Given the description of an element on the screen output the (x, y) to click on. 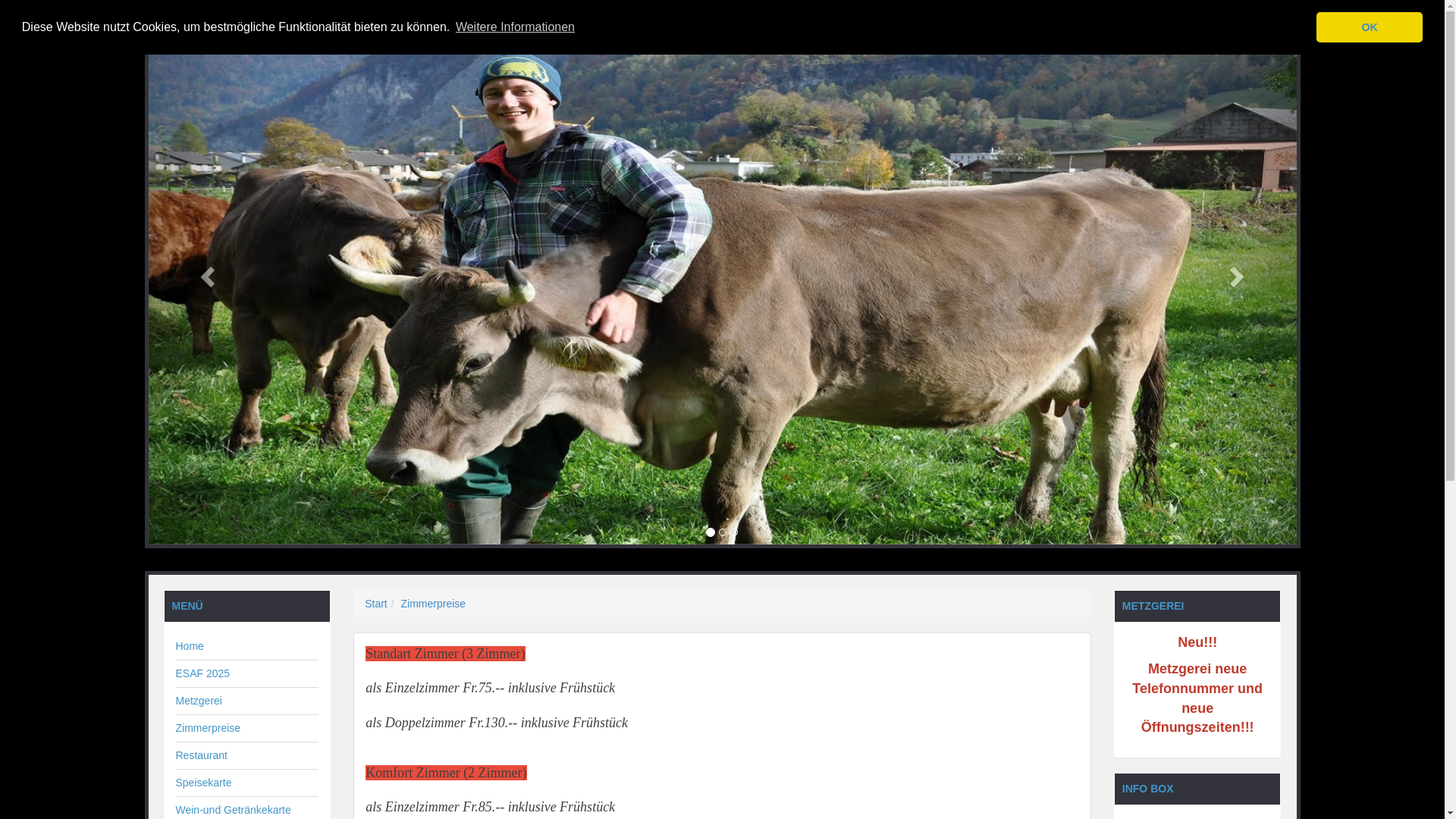
Next Element type: text (1238, 272)
Speisekarte Element type: text (203, 782)
OK Element type: text (1369, 27)
Restaurant Element type: text (201, 755)
Weitere Informationen Element type: text (515, 26)
Metzgerei Element type: text (198, 700)
Home Element type: text (189, 646)
Previous Element type: text (205, 272)
Start Element type: text (375, 603)
Zimmerpreise Element type: text (208, 727)
Zimmerpreise Element type: text (433, 603)
ESAF 2025 Element type: text (202, 673)
